Given the description of an element on the screen output the (x, y) to click on. 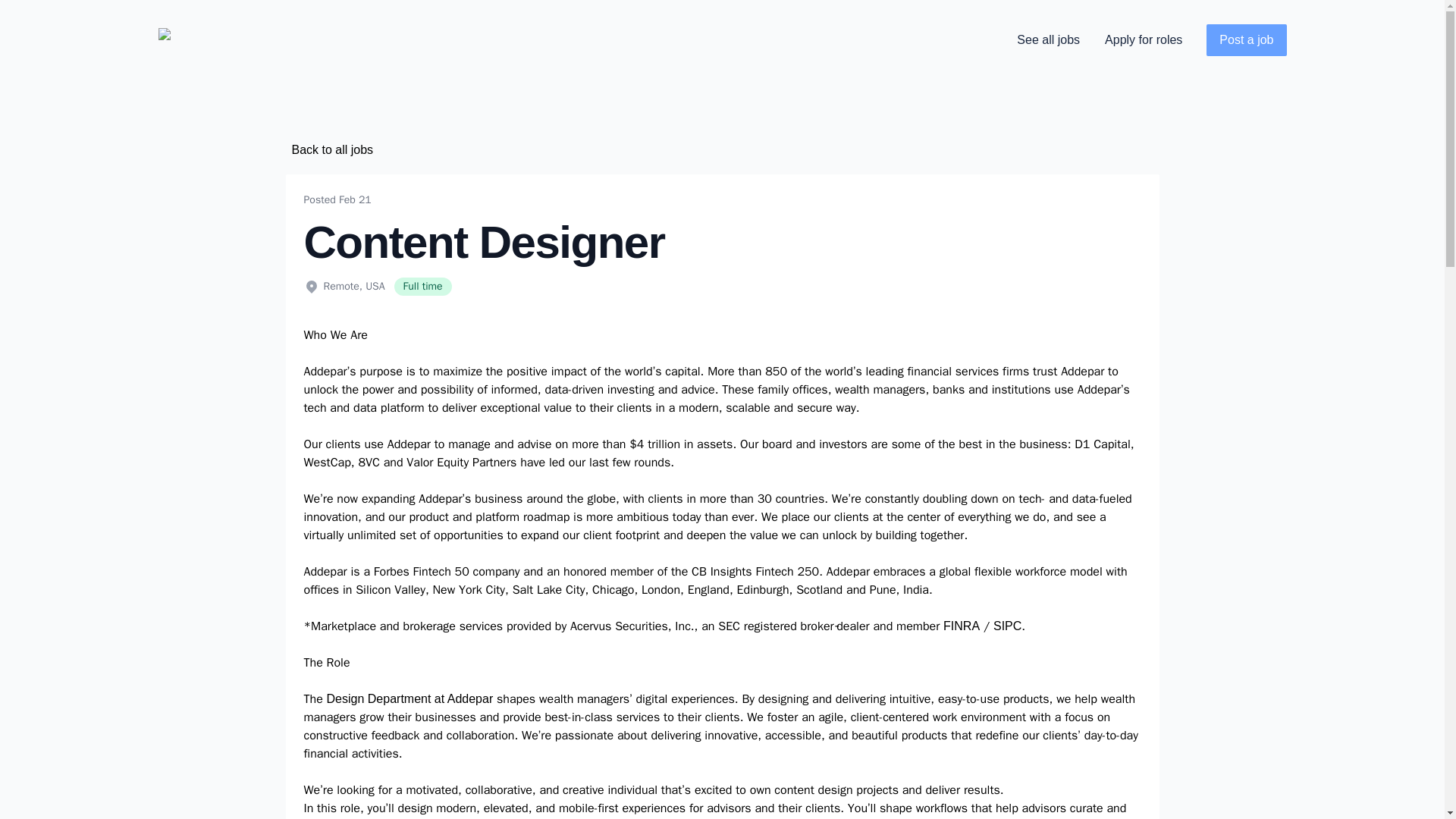
Design Department at Addepar (409, 698)
SIPC (1007, 625)
See all jobs (1048, 40)
Apply for roles (1143, 40)
FINRA (961, 625)
Back to all jobs (331, 149)
Post a job (1246, 40)
